Given the description of an element on the screen output the (x, y) to click on. 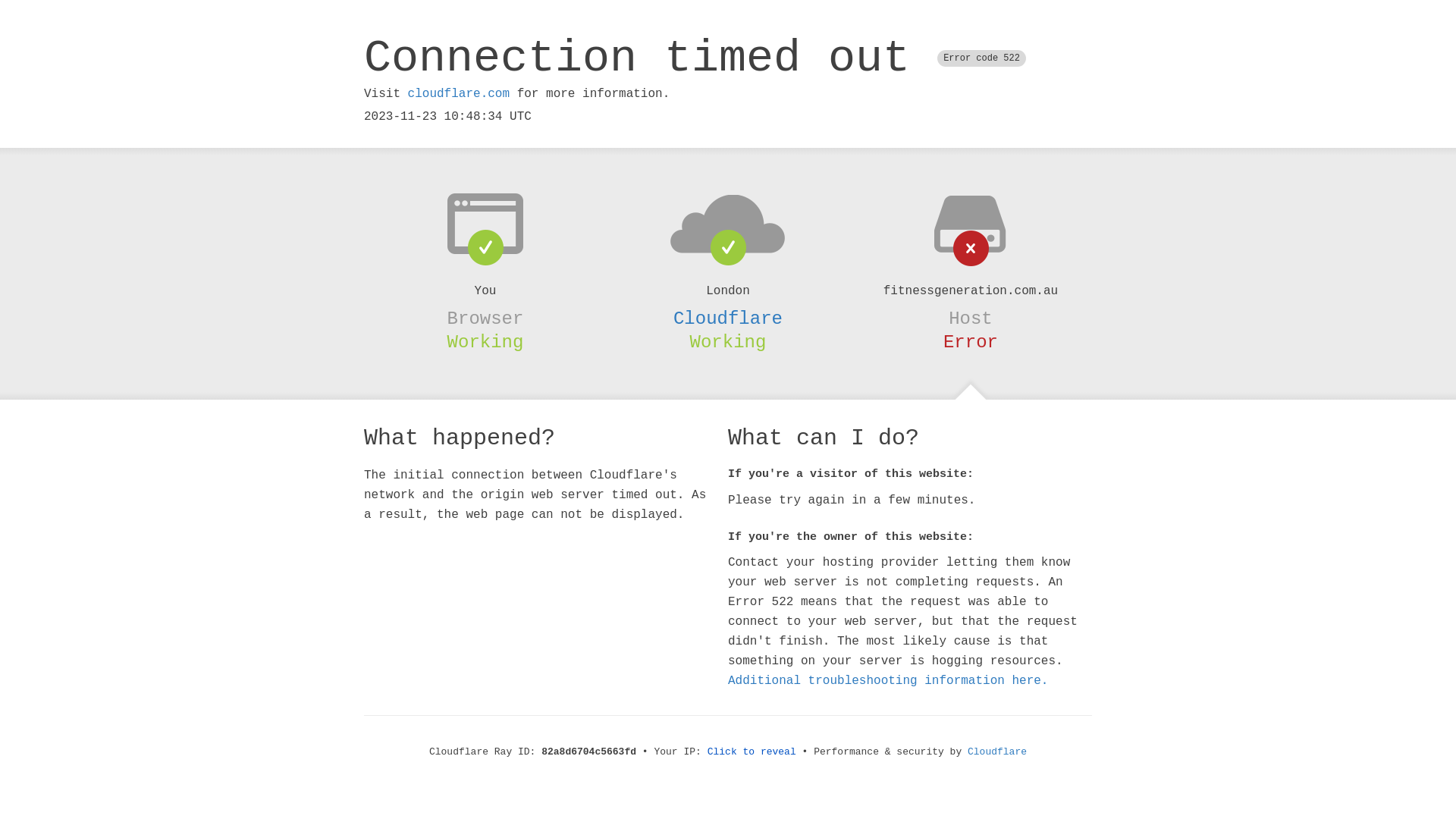
Cloudflare Element type: text (727, 318)
Additional troubleshooting information here. Element type: text (888, 680)
cloudflare.com Element type: text (458, 93)
Cloudflare Element type: text (996, 751)
Click to reveal Element type: text (751, 751)
